Given the description of an element on the screen output the (x, y) to click on. 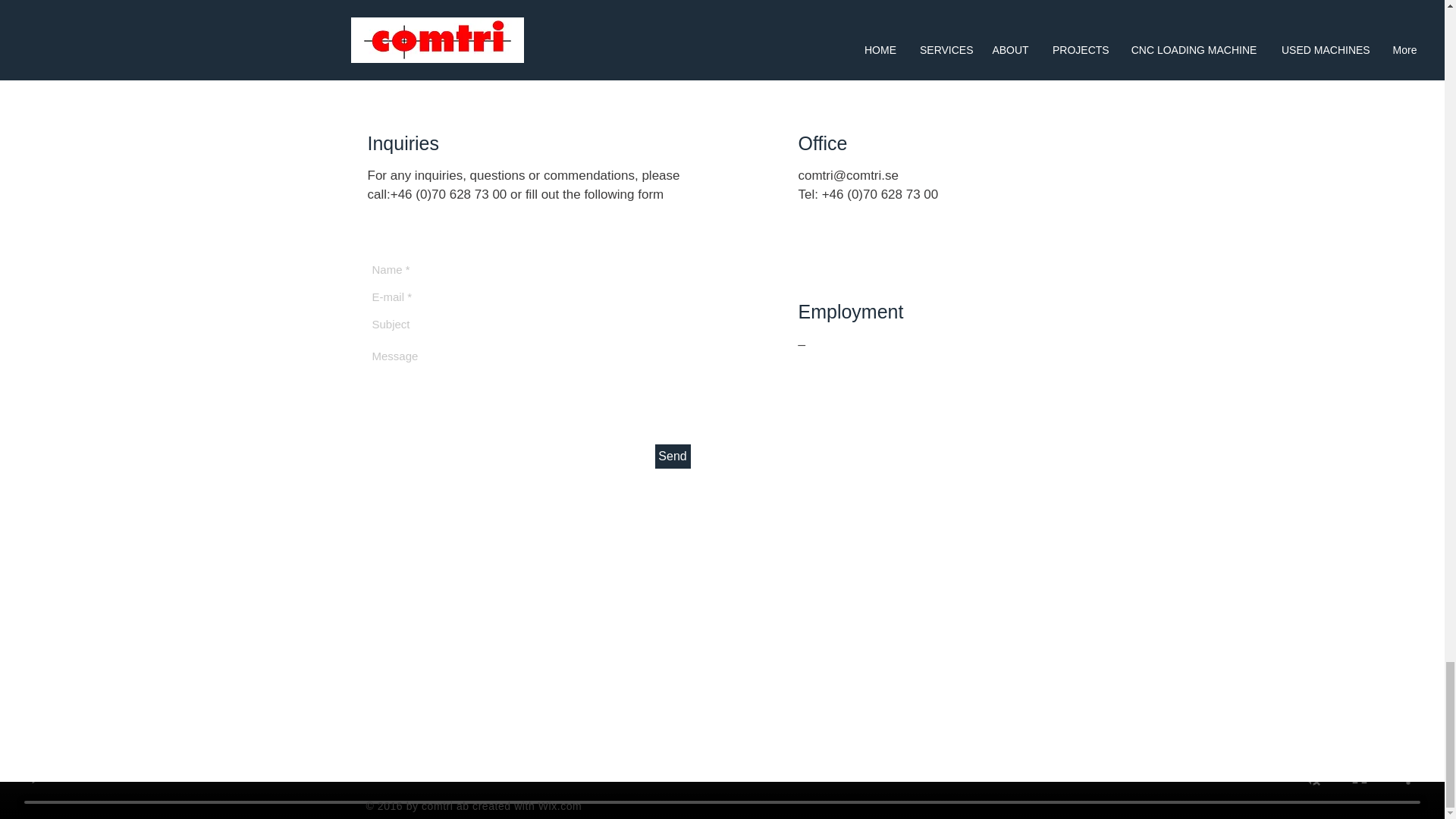
Wix.com (560, 806)
Send (672, 456)
